Given the description of an element on the screen output the (x, y) to click on. 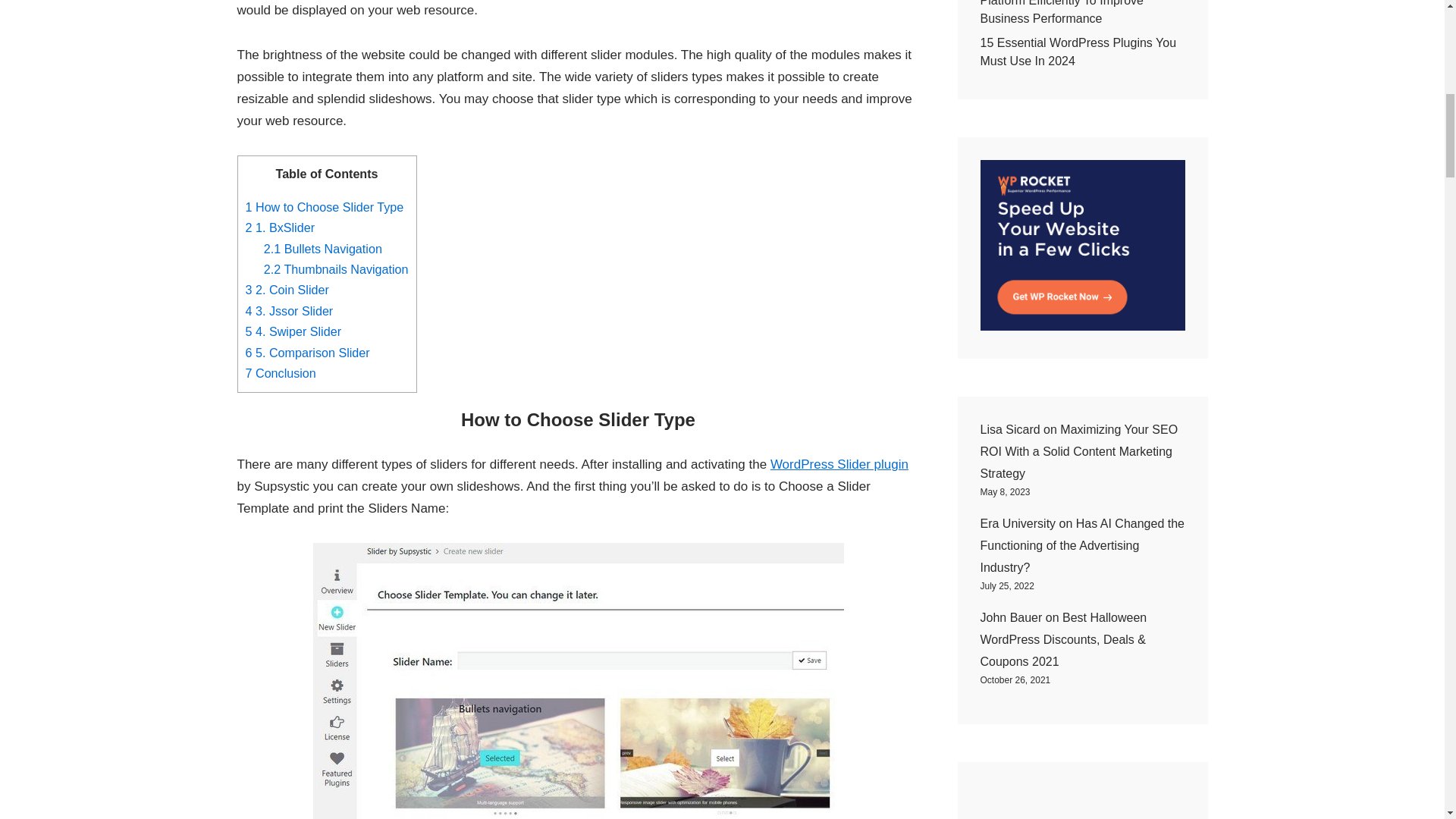
2 1. BxSlider (280, 227)
7 Conclusion (280, 373)
1 How to Choose Slider Type (325, 206)
2.2 Thumbnails Navigation (336, 269)
6 5. Comparison Slider (307, 352)
WordPress Slider plugin (839, 464)
4 3. Jssor Slider (289, 310)
5 4. Swiper Slider (294, 331)
3 2. Coin Slider (287, 289)
2.1 Bullets Navigation (322, 248)
